Given the description of an element on the screen output the (x, y) to click on. 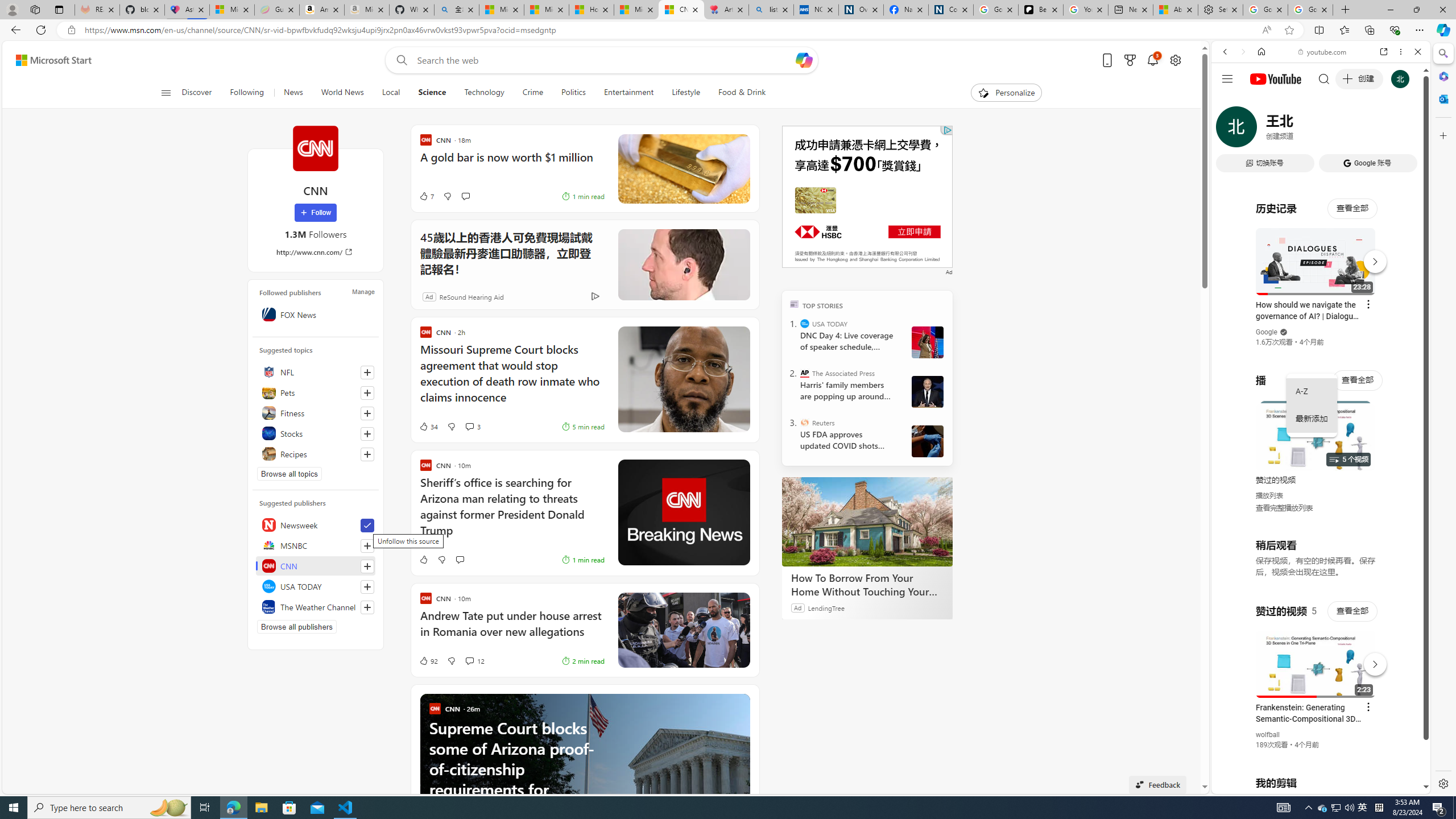
Aberdeen, Hong Kong SAR hourly forecast | Microsoft Weather (1175, 9)
Class: dict_pnIcon rms_img (1312, 784)
Newsweek (315, 524)
Open navigation menu (164, 92)
Search the web (1326, 78)
